Given the description of an element on the screen output the (x, y) to click on. 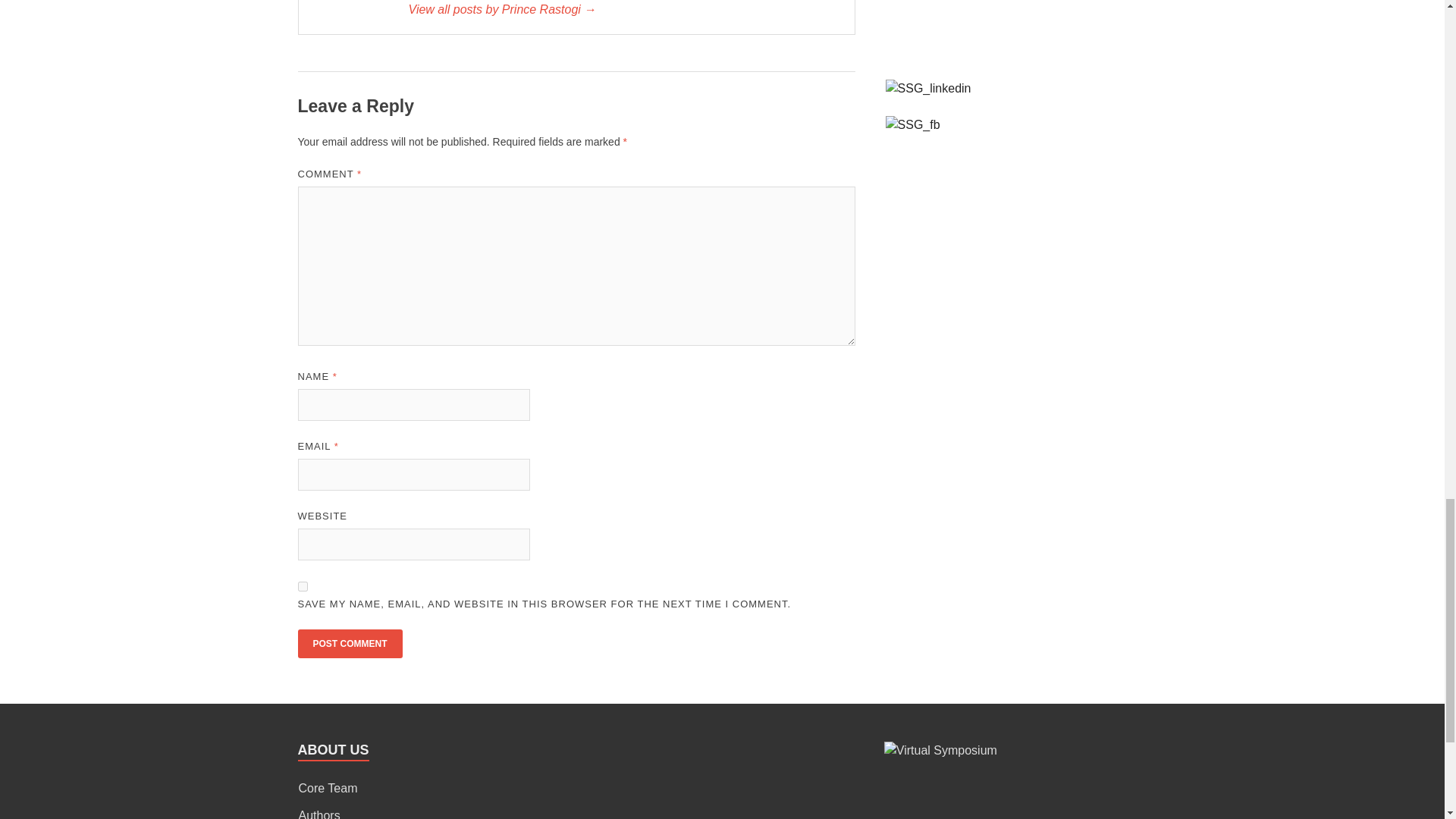
Post Comment (349, 643)
yes (302, 586)
Prince Rastogi (622, 9)
